Given the description of an element on the screen output the (x, y) to click on. 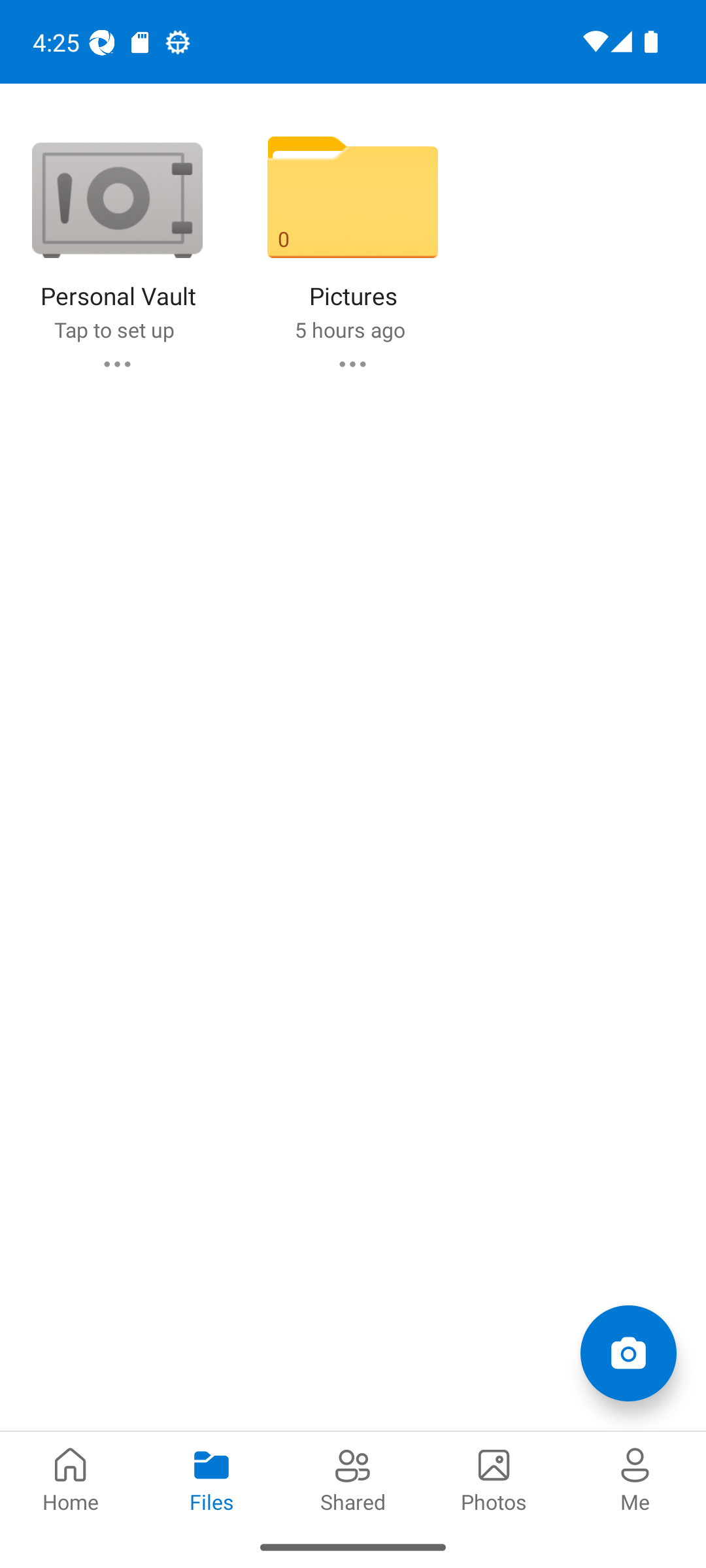
Tap to set up (113, 329)
5 hours ago (349, 329)
Personal Vault commands (116, 363)
Pictures commands (352, 363)
Add items Scan (628, 1352)
Home pivot Home (70, 1478)
Shared pivot Shared (352, 1478)
Photos pivot Photos (493, 1478)
Me pivot Me (635, 1478)
